Given the description of an element on the screen output the (x, y) to click on. 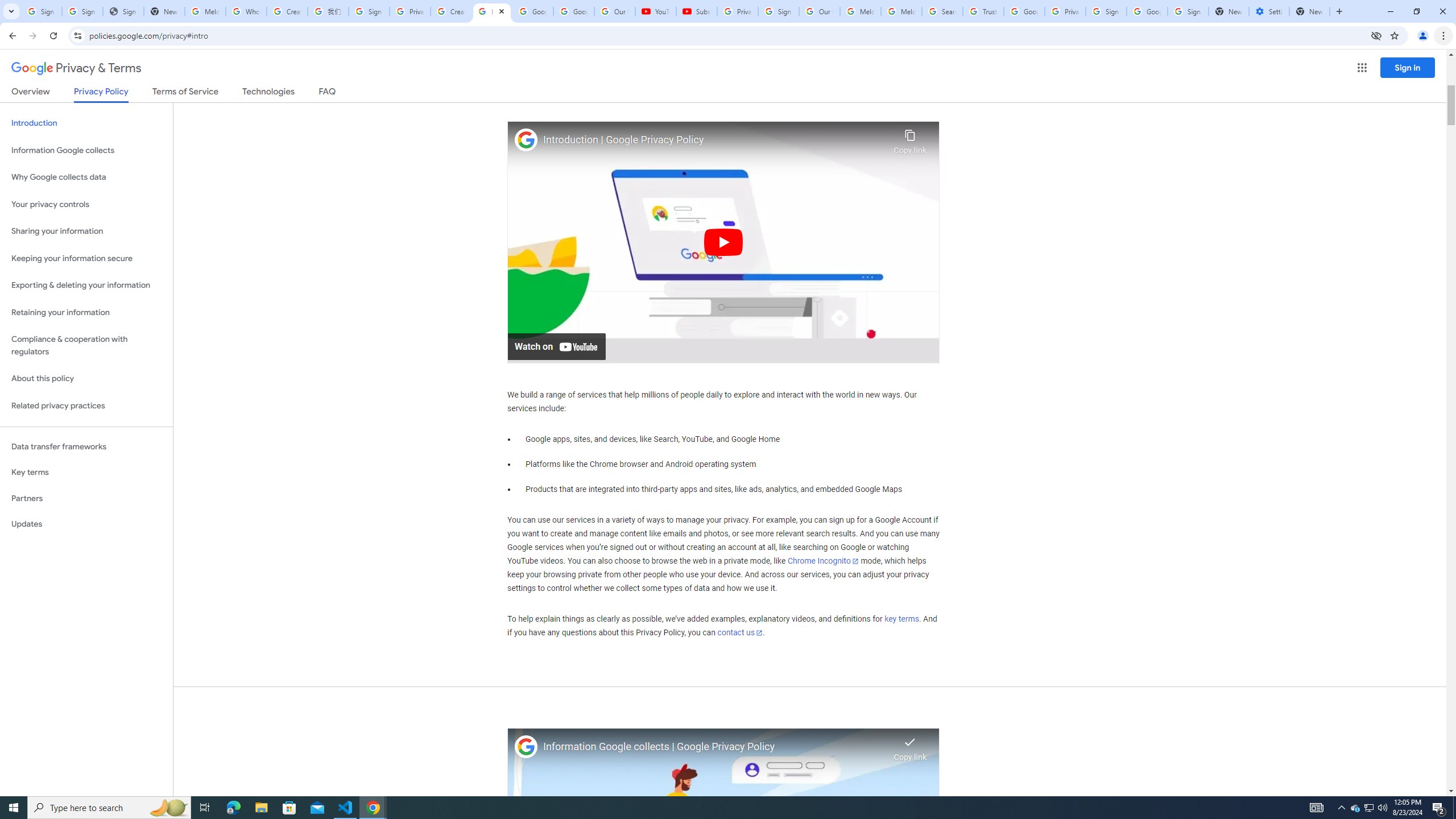
Exporting & deleting your information (86, 284)
